Given the description of an element on the screen output the (x, y) to click on. 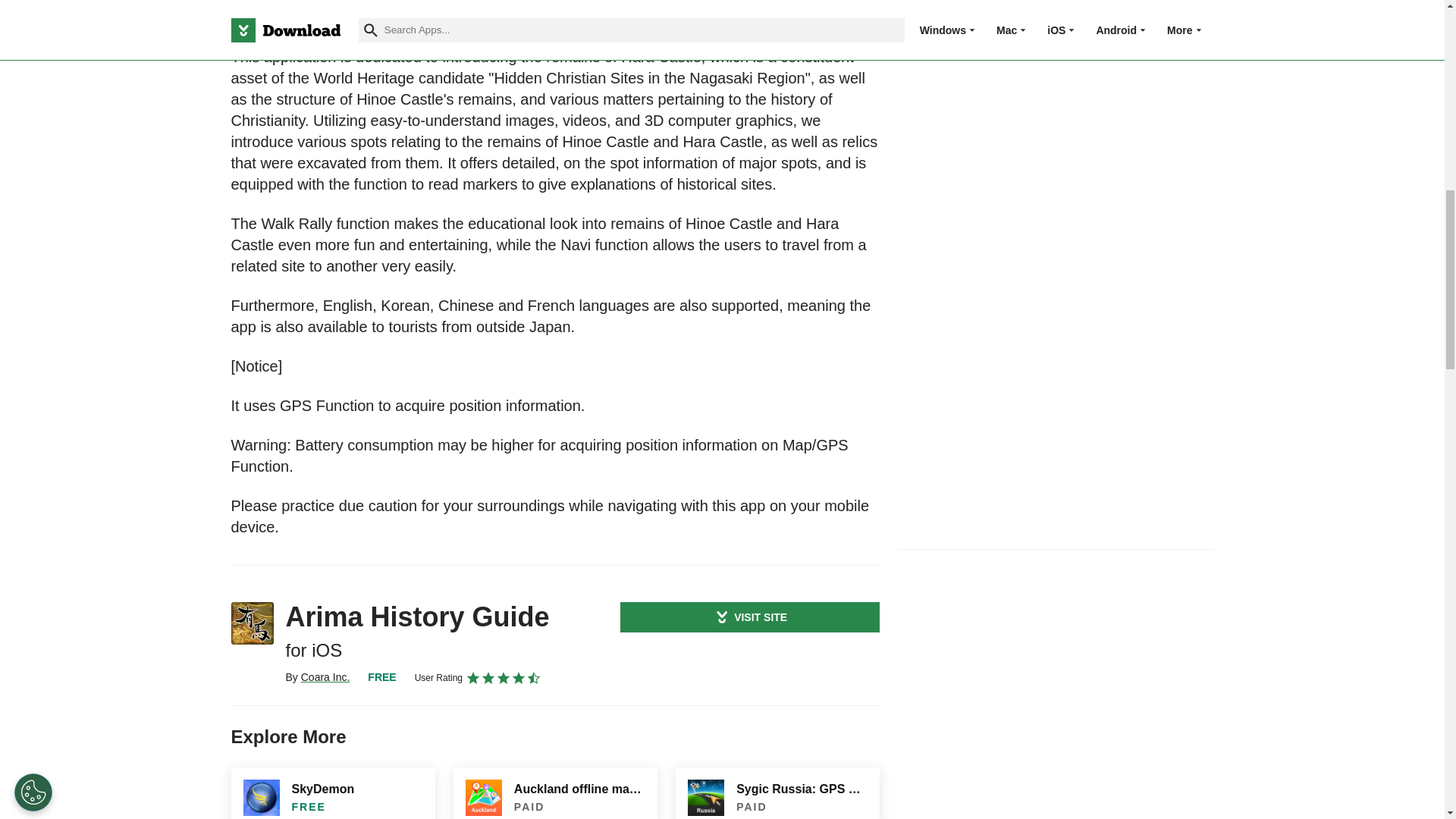
Arima History Guide for iOS (251, 622)
Sygic Russia: GPS Navigation (777, 793)
SkyDemon (331, 793)
